Given the description of an element on the screen output the (x, y) to click on. 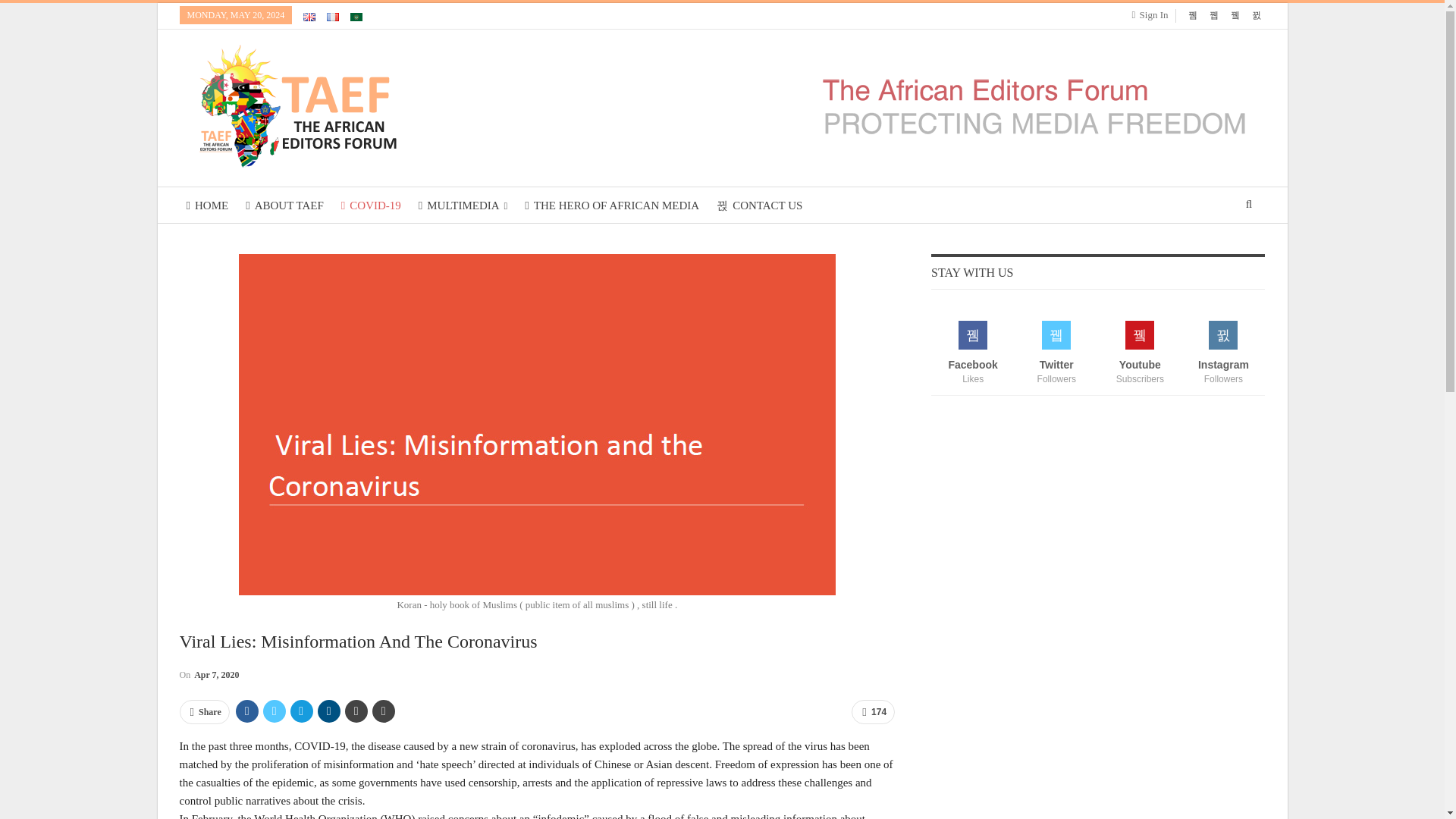
MULTIMEDIA (463, 205)
HOME (206, 205)
THE HERO OF AFRICAN MEDIA (612, 205)
COVID-19 (370, 205)
Sign In (1153, 14)
ABOUT TAEF (284, 205)
CONTACT US (759, 205)
